Given the description of an element on the screen output the (x, y) to click on. 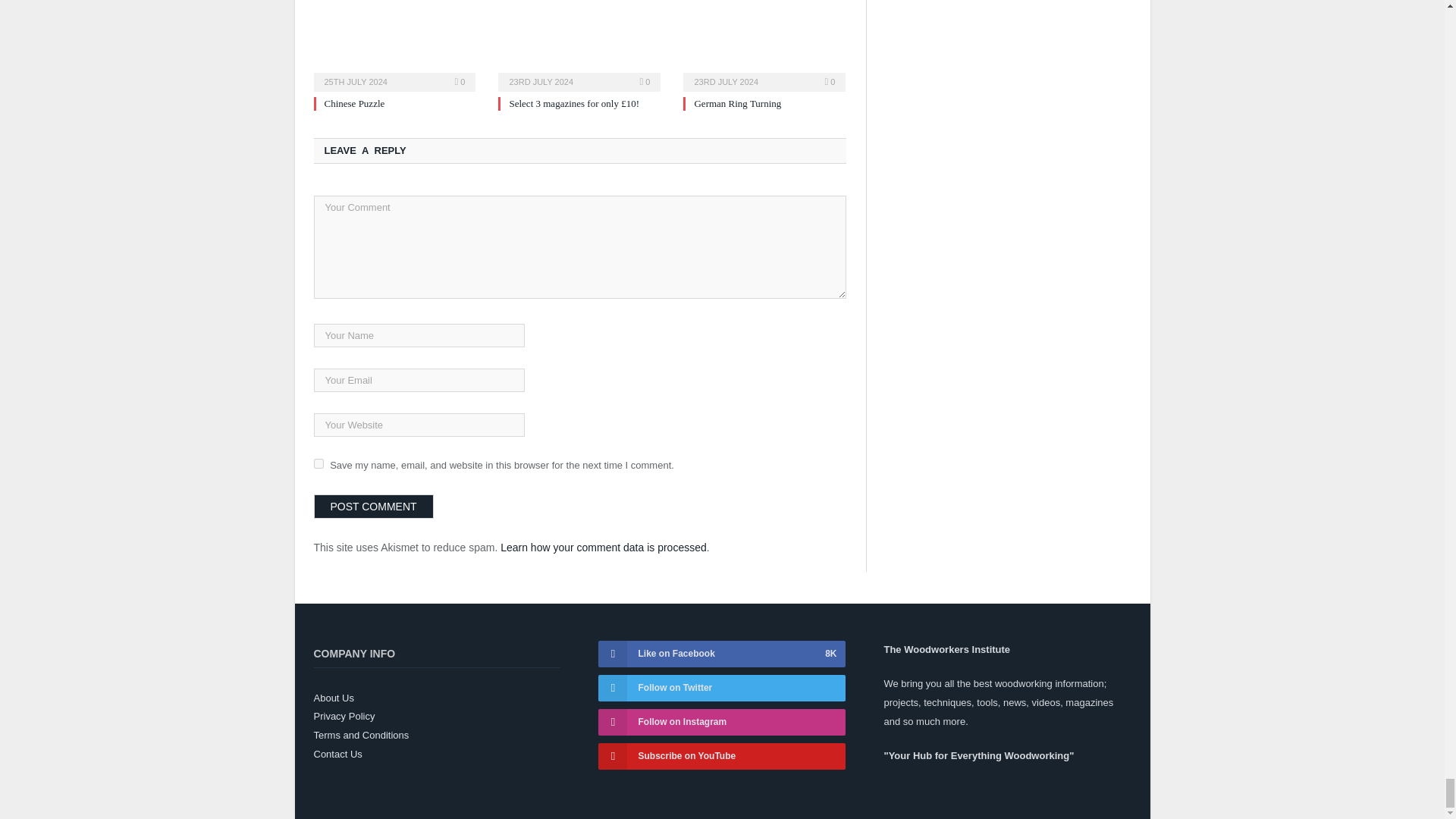
Chinese Puzzle (354, 102)
Post Comment (373, 506)
yes (318, 463)
Chinese Puzzle (395, 43)
